Given the description of an element on the screen output the (x, y) to click on. 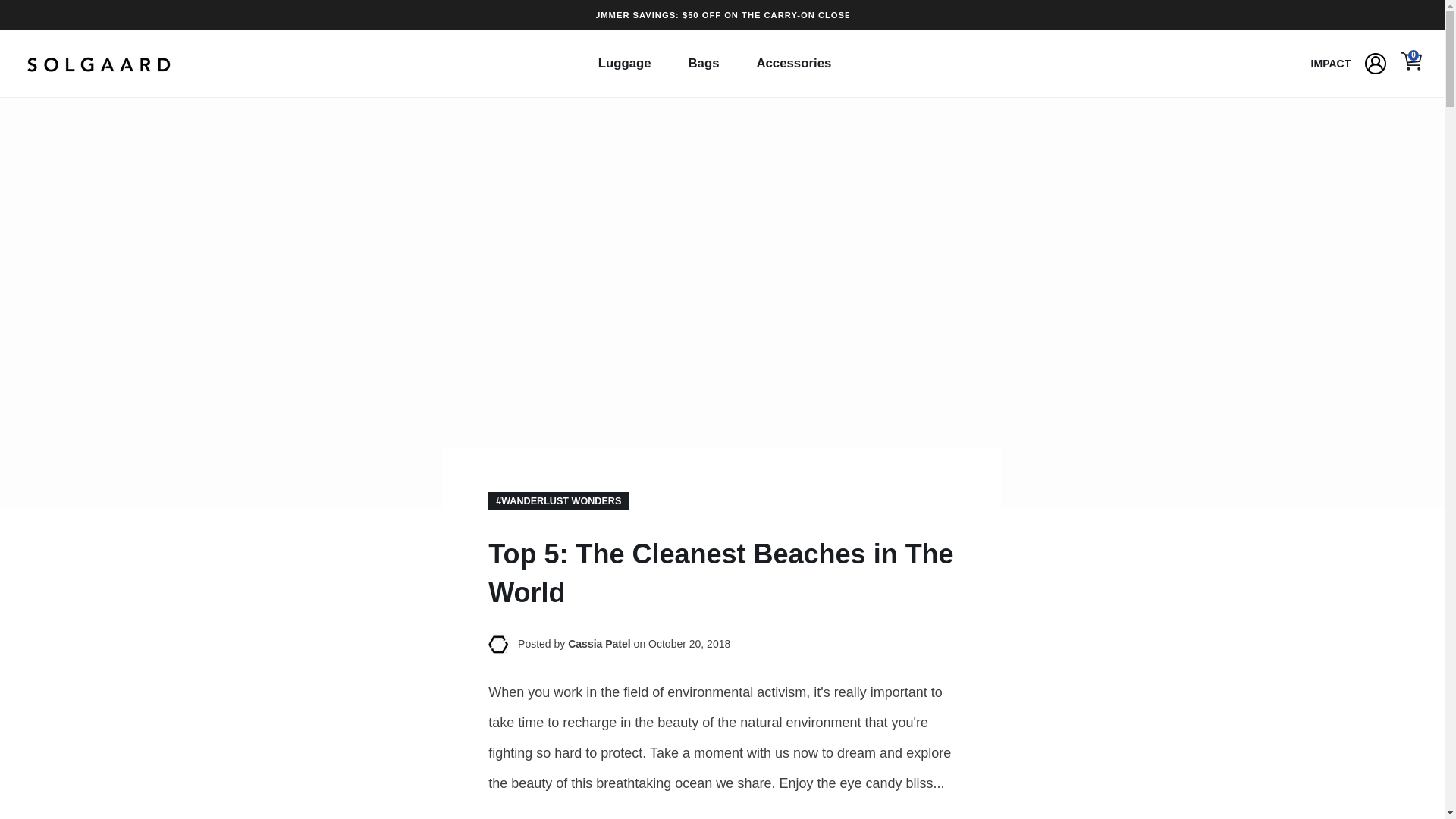
Accessories (799, 64)
Luggage (630, 64)
Carry-On Closet Luggage from Solgaard (722, 14)
0 (1411, 63)
